Given the description of an element on the screen output the (x, y) to click on. 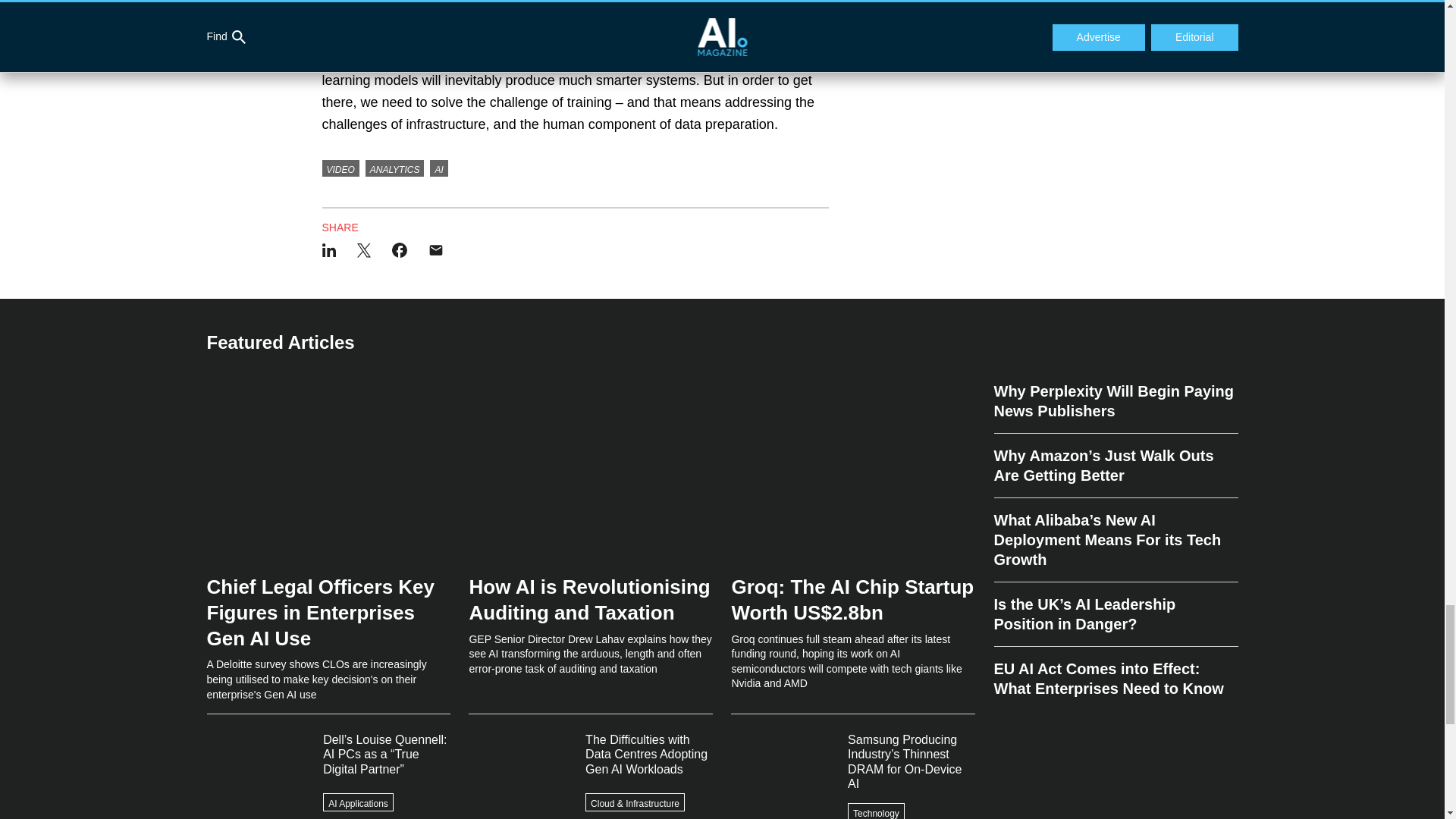
AI (437, 167)
ANALYTICS (395, 167)
Why Perplexity Will Begin Paying News Publishers (1114, 407)
VIDEO (339, 167)
